Given the description of an element on the screen output the (x, y) to click on. 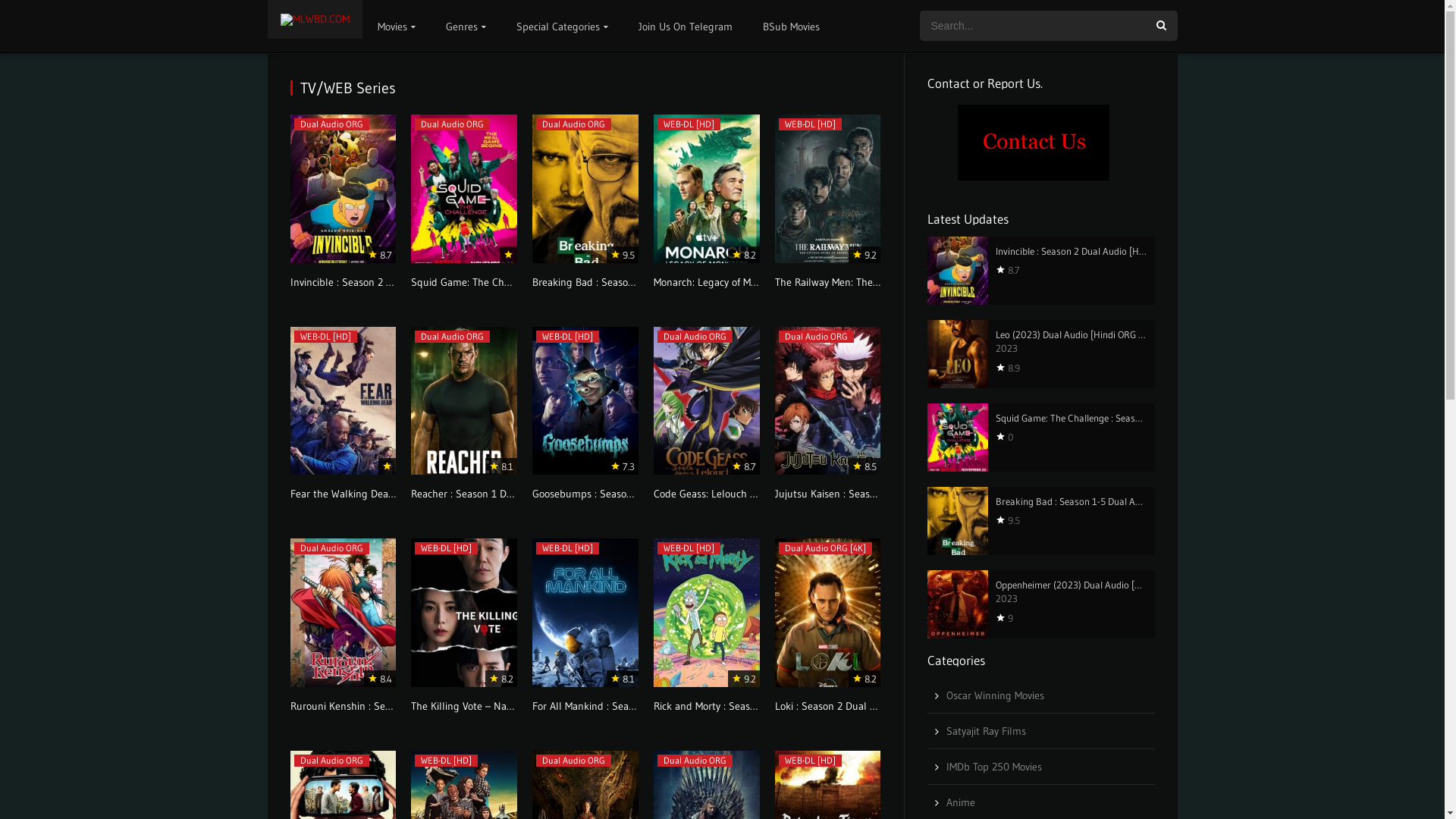
Genres Element type: text (465, 26)
Oscar Winning Movies Element type: text (995, 695)
Movies Element type: text (396, 26)
BSub Movies Element type: text (790, 26)
Join Us On Telegram Element type: text (685, 26)
Satyajit Ray Films Element type: text (986, 730)
Special Categories Element type: text (561, 26)
IMDb Top 250 Movies Element type: text (993, 766)
Anime Element type: text (960, 802)
